Given the description of an element on the screen output the (x, y) to click on. 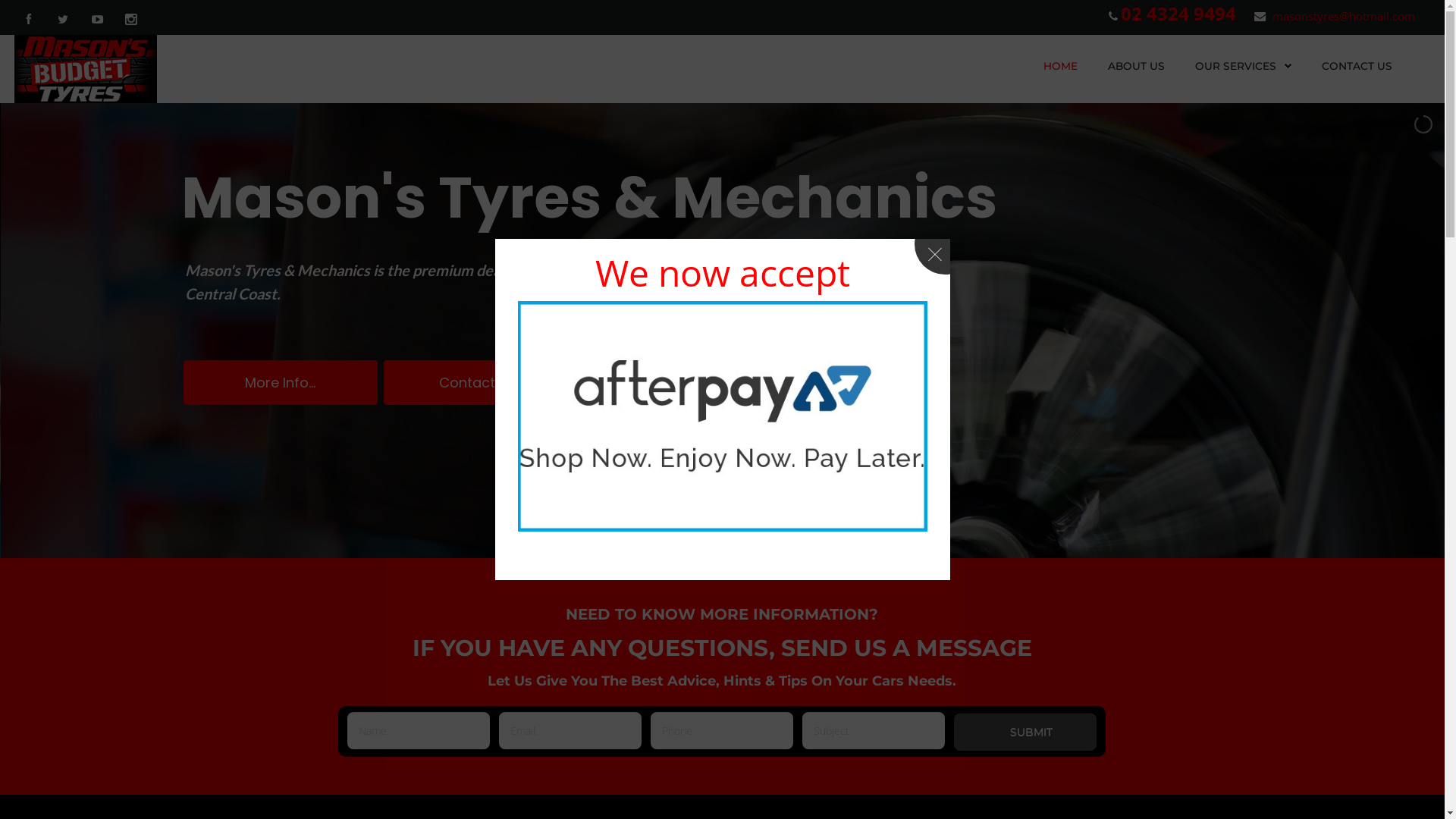
CONTACT US Element type: text (1356, 65)
CONTACT US Element type: text (1356, 65)
OUR SERVICES Element type: text (1235, 65)
Submit Element type: text (1024, 731)
HOME Element type: text (1060, 65)
masonstyres@hotmail.com Element type: text (1343, 15)
ABOUT US Element type: text (1135, 65)
HOME Element type: text (1060, 65)
OUR SERVICES Element type: text (1243, 65)
02 4324 9494 Element type: text (1178, 12)
ABOUT US Element type: text (1135, 65)
